Given the description of an element on the screen output the (x, y) to click on. 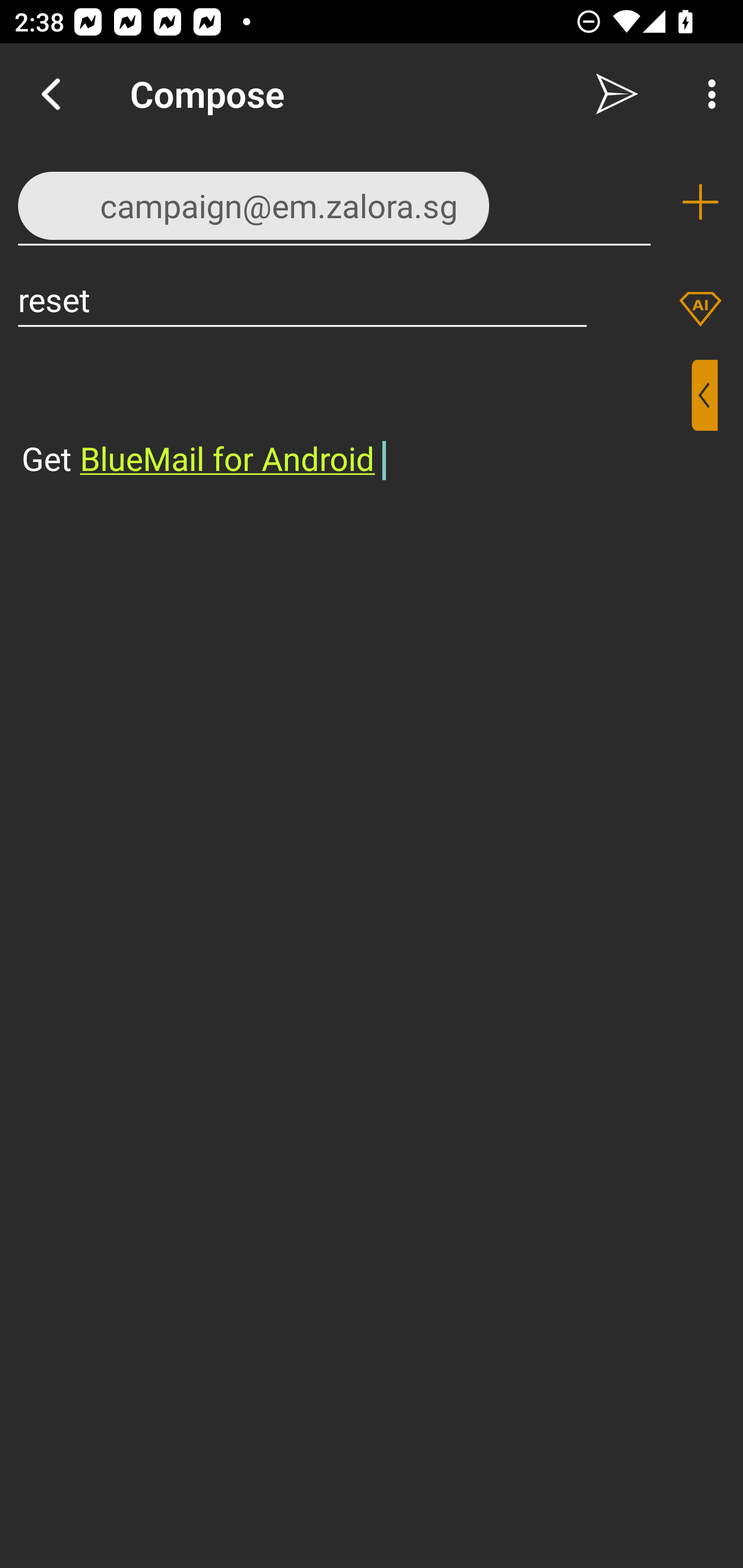
Navigate up (50, 93)
Send (616, 93)
More Options (706, 93)
<campaign@em.zalora.sg>,  (334, 201)
Add recipient (To) (699, 201)
reset (302, 299)


⁣Get BlueMail for Android ​ (355, 419)
